Given the description of an element on the screen output the (x, y) to click on. 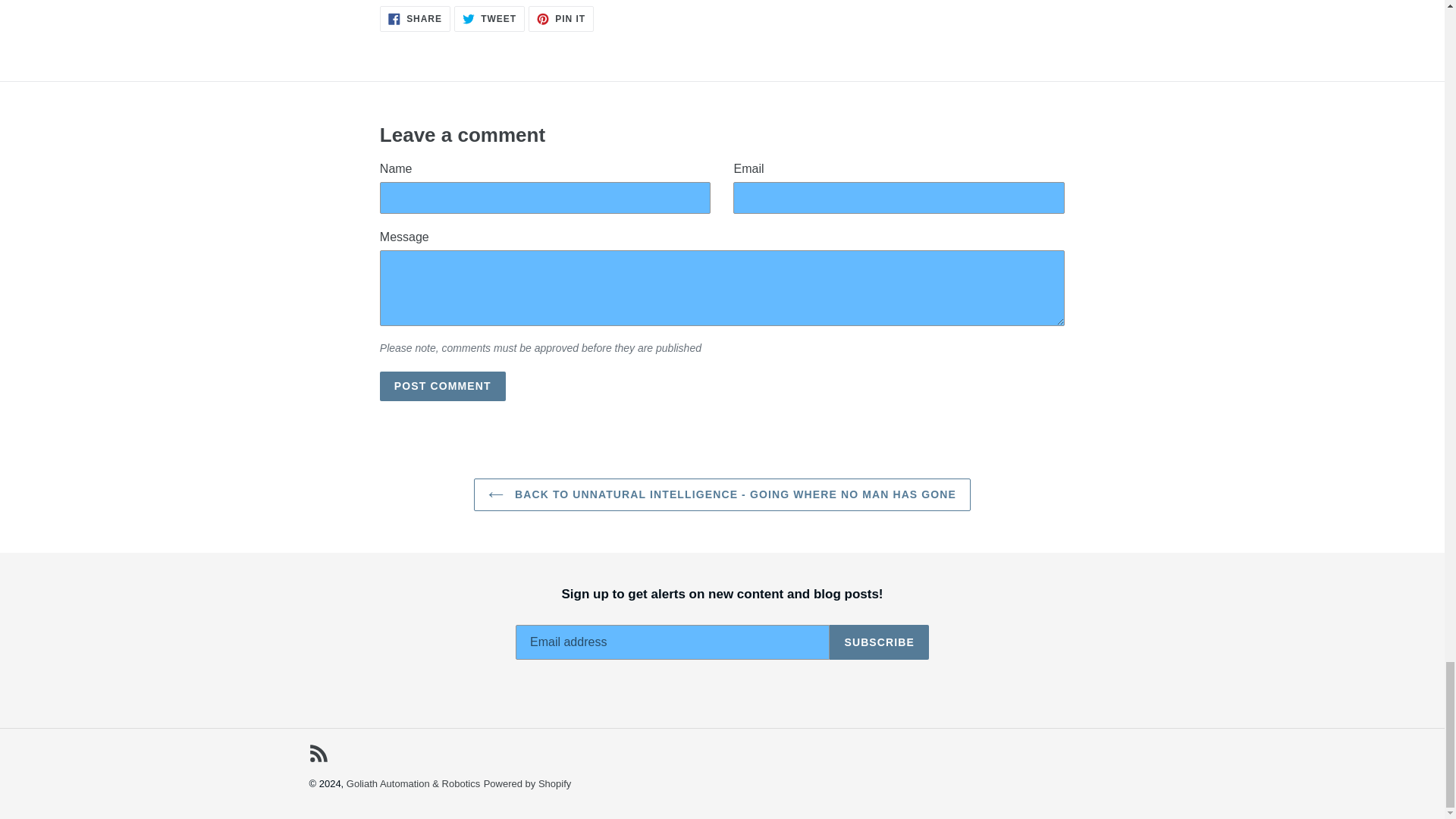
SUBSCRIBE (878, 642)
Post comment (489, 18)
RSS (442, 386)
BACK TO UNNATURAL INTELLIGENCE - GOING WHERE NO MAN HAS GONE (561, 18)
Post comment (414, 18)
